Given the description of an element on the screen output the (x, y) to click on. 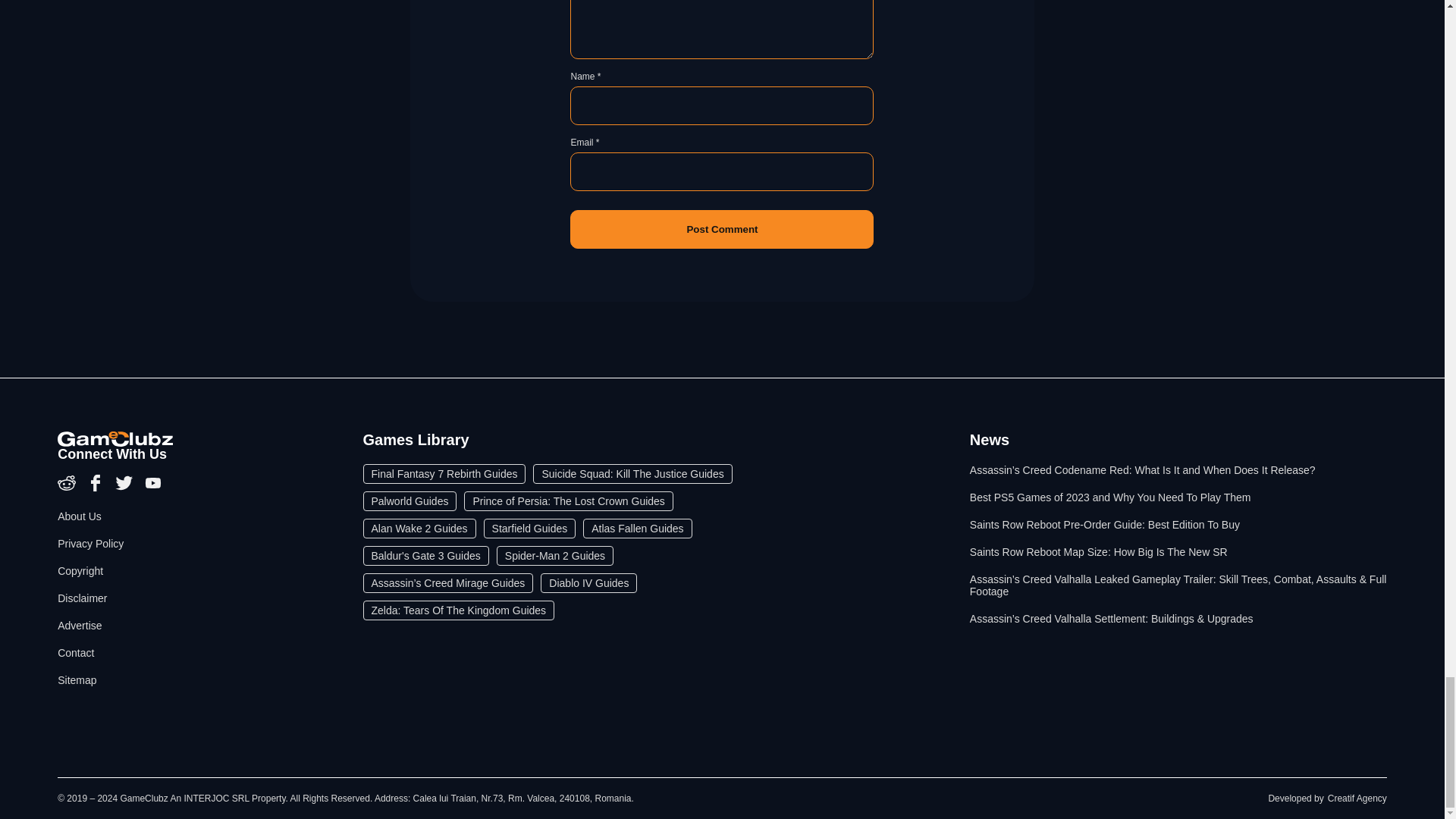
instagram (68, 488)
Post Comment (721, 228)
twitter (125, 488)
facebook (96, 488)
Creatif Agency web design (1357, 798)
youtube (152, 488)
